Given the description of an element on the screen output the (x, y) to click on. 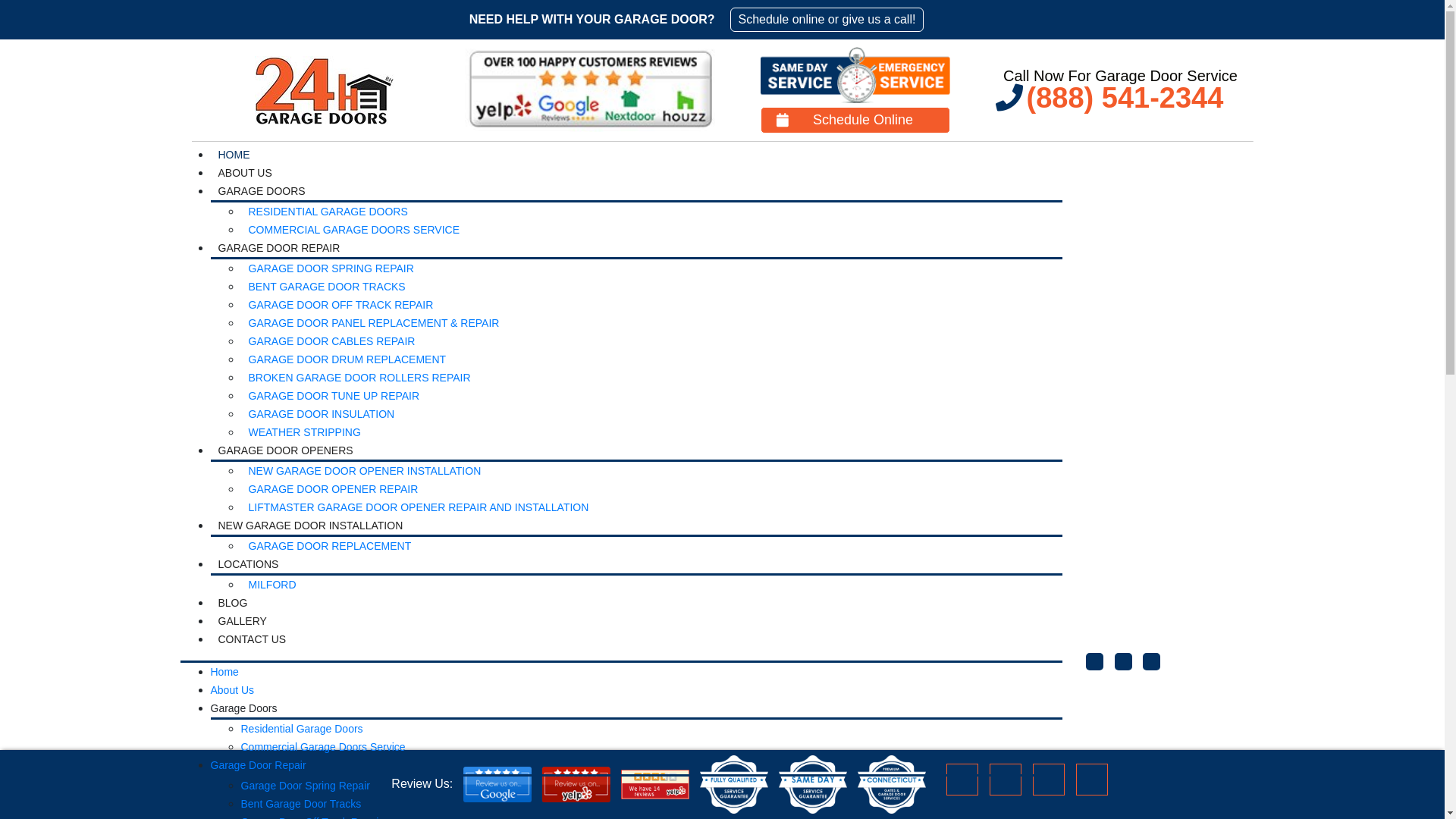
Bent Garage Door Tracks Element type: text (301, 803)
GALLERY Element type: text (242, 620)
Commercial Garage Doors Service Element type: text (323, 746)
ABOUT US Element type: text (244, 172)
BROKEN GARAGE DOOR ROLLERS REPAIR Element type: text (359, 377)
(888) 541-2344 Element type: text (1119, 97)
Garage Door Spring Repair Element type: text (305, 785)
Home Element type: text (224, 671)
GARAGE DOOR OPENER REPAIR Element type: text (333, 488)
GARAGE DOORS Element type: text (261, 190)
Garage Door Repair Element type: text (258, 765)
BLOG Element type: text (232, 602)
NEW GARAGE DOOR INSTALLATION Element type: text (310, 525)
GARAGE DOOR REPAIR Element type: text (279, 247)
GARAGE DOOR SPRING REPAIR Element type: text (331, 268)
MILFORD Element type: text (272, 584)
GARAGE DOOR TUNE UP REPAIR Element type: text (334, 395)
COMMERCIAL GARAGE DOORS SERVICE Element type: text (354, 229)
Garage Doors Element type: text (243, 708)
GARAGE DOOR OFF TRACK REPAIR Element type: text (341, 304)
GARAGE DOOR OPENERS Element type: text (285, 450)
Residential Garage Doors Element type: text (302, 728)
About Us Element type: text (232, 690)
Schedule online or give us a call! Element type: text (826, 19)
GARAGE DOOR PANEL REPLACEMENT & REPAIR Element type: text (374, 322)
HOME Element type: text (233, 154)
GARAGE DOOR DRUM REPLACEMENT Element type: text (347, 359)
BENT GARAGE DOOR TRACKS Element type: text (327, 286)
LOCATIONS Element type: text (248, 563)
NEW GARAGE DOOR OPENER INSTALLATION Element type: text (365, 470)
GARAGE DOOR REPLACEMENT Element type: text (330, 545)
LIFTMASTER GARAGE DOOR OPENER REPAIR AND INSTALLATION Element type: text (418, 506)
CONTACT US Element type: text (252, 638)
RESIDENTIAL GARAGE DOORS Element type: text (328, 211)
GARAGE DOOR CABLES REPAIR Element type: text (332, 340)
Schedule Online Element type: text (854, 119)
GARAGE DOOR INSULATION Element type: text (321, 413)
WEATHER STRIPPING Element type: text (304, 431)
